Given the description of an element on the screen output the (x, y) to click on. 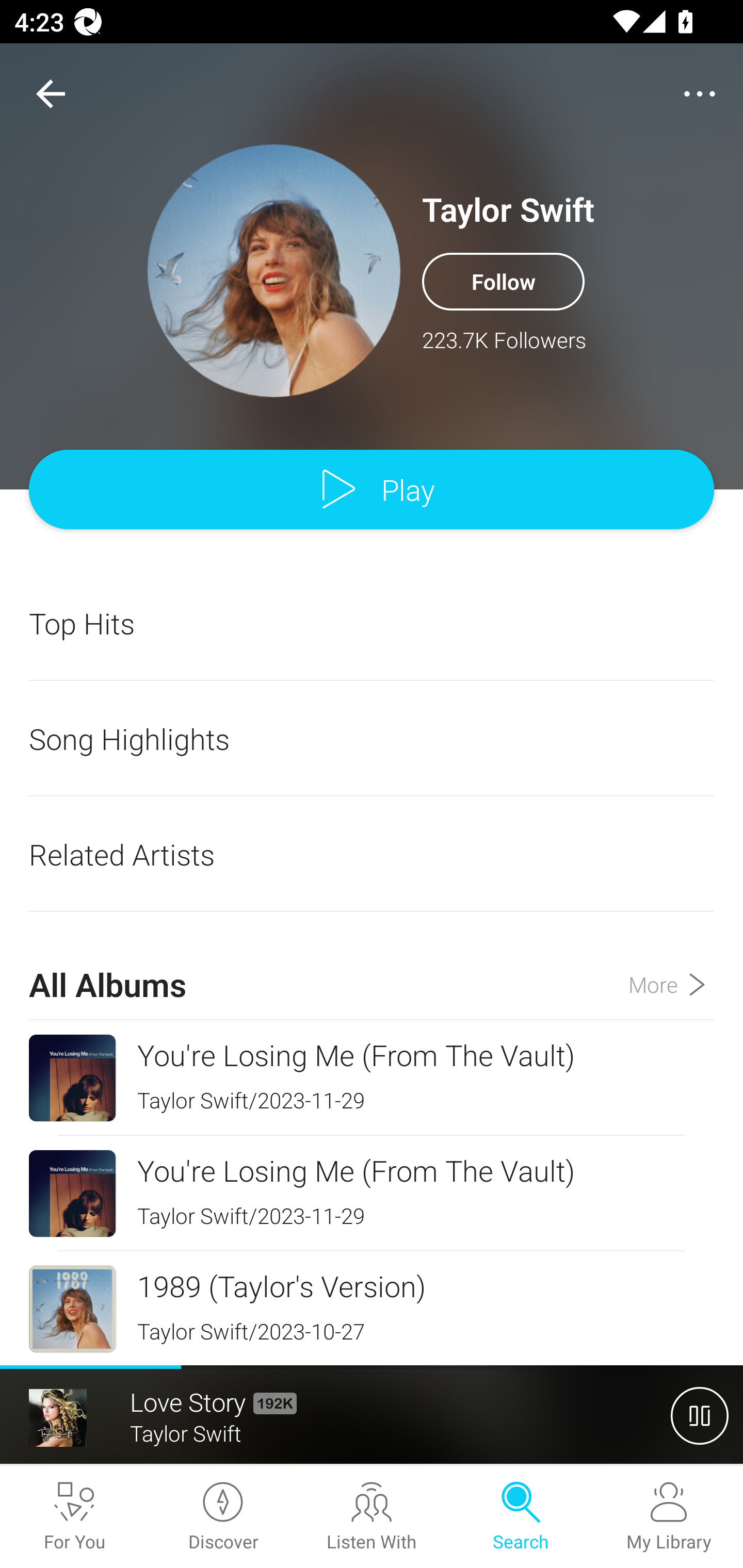
overflow (699, 93)
view_artist_avatar (273, 270)
Follow button_subscription (503, 281)
Play (371, 489)
Top Hits (371, 623)
Song Highlights (371, 738)
Related Artists (371, 854)
All Albums More (371, 966)
1989 (Taylor's Version) Taylor Swift/2023-10-27 (371, 1308)
暫停播放 (699, 1415)
For You (74, 1517)
Discover (222, 1517)
Listen With (371, 1517)
Search (519, 1517)
My Library (668, 1517)
